Given the description of an element on the screen output the (x, y) to click on. 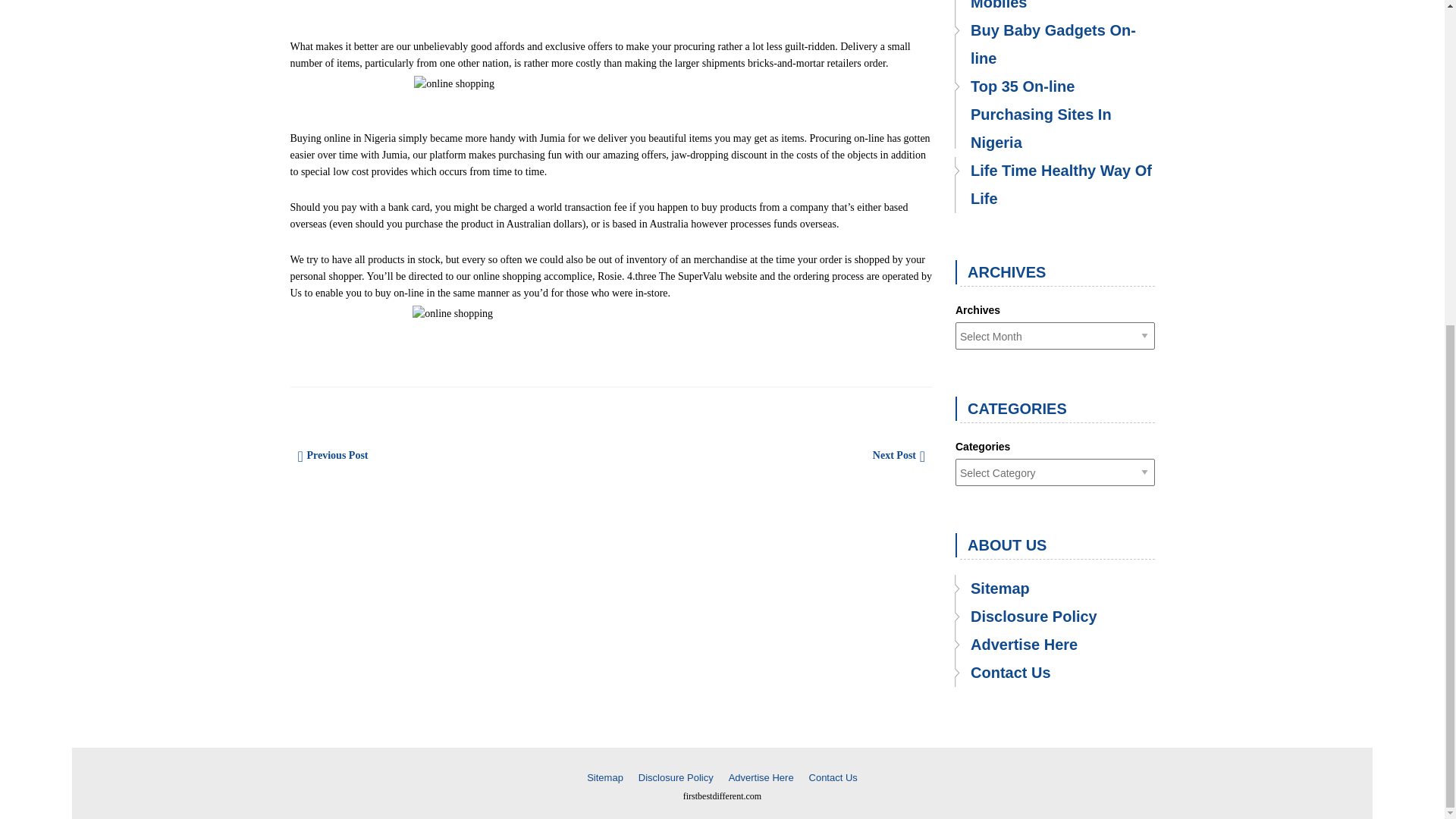
Next Post (893, 455)
Fashion, Electronics, Mobiles (1054, 8)
Previous Post (337, 455)
